Given the description of an element on the screen output the (x, y) to click on. 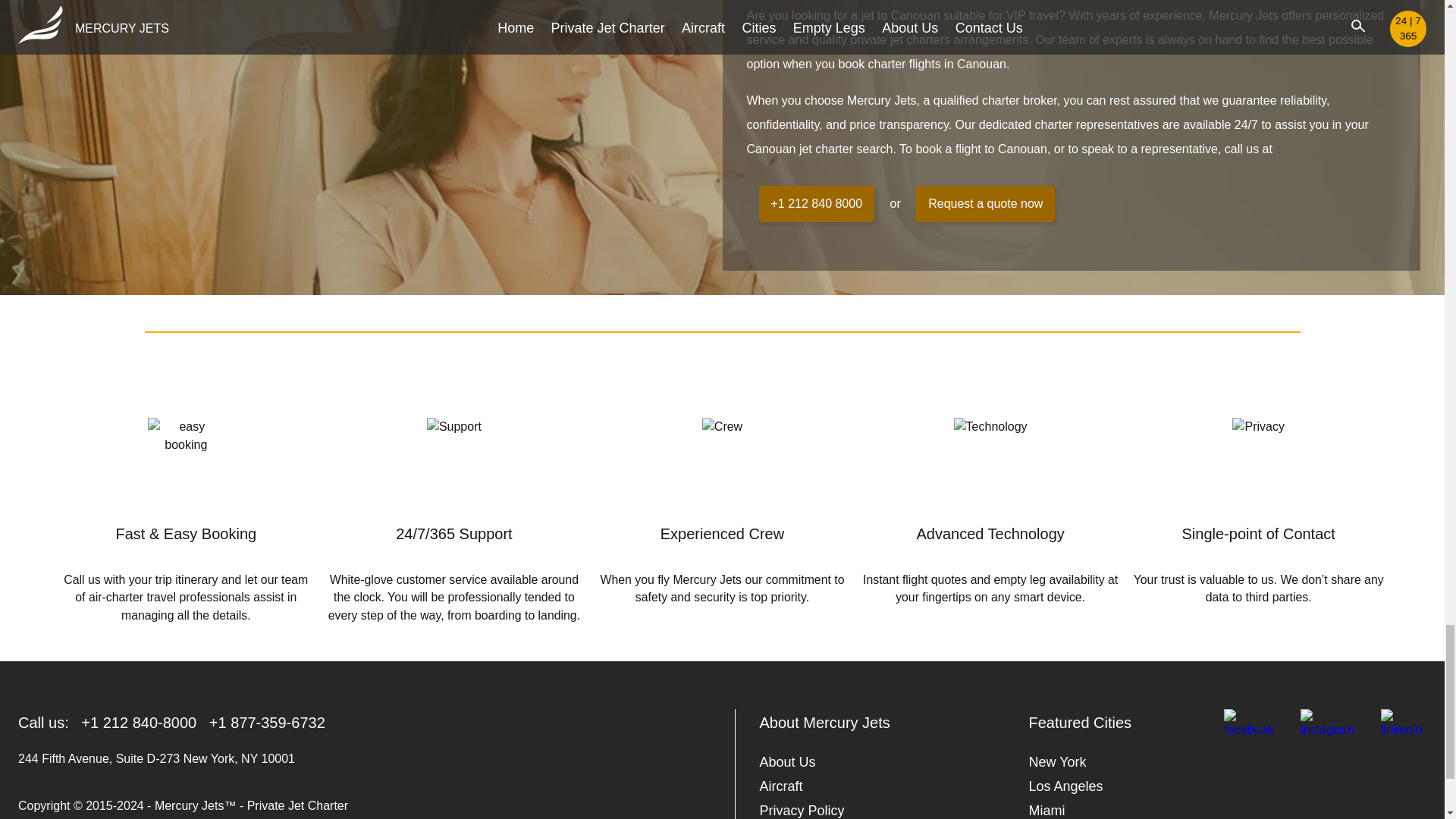
Request a quote now (984, 203)
About Us (787, 761)
